Given the description of an element on the screen output the (x, y) to click on. 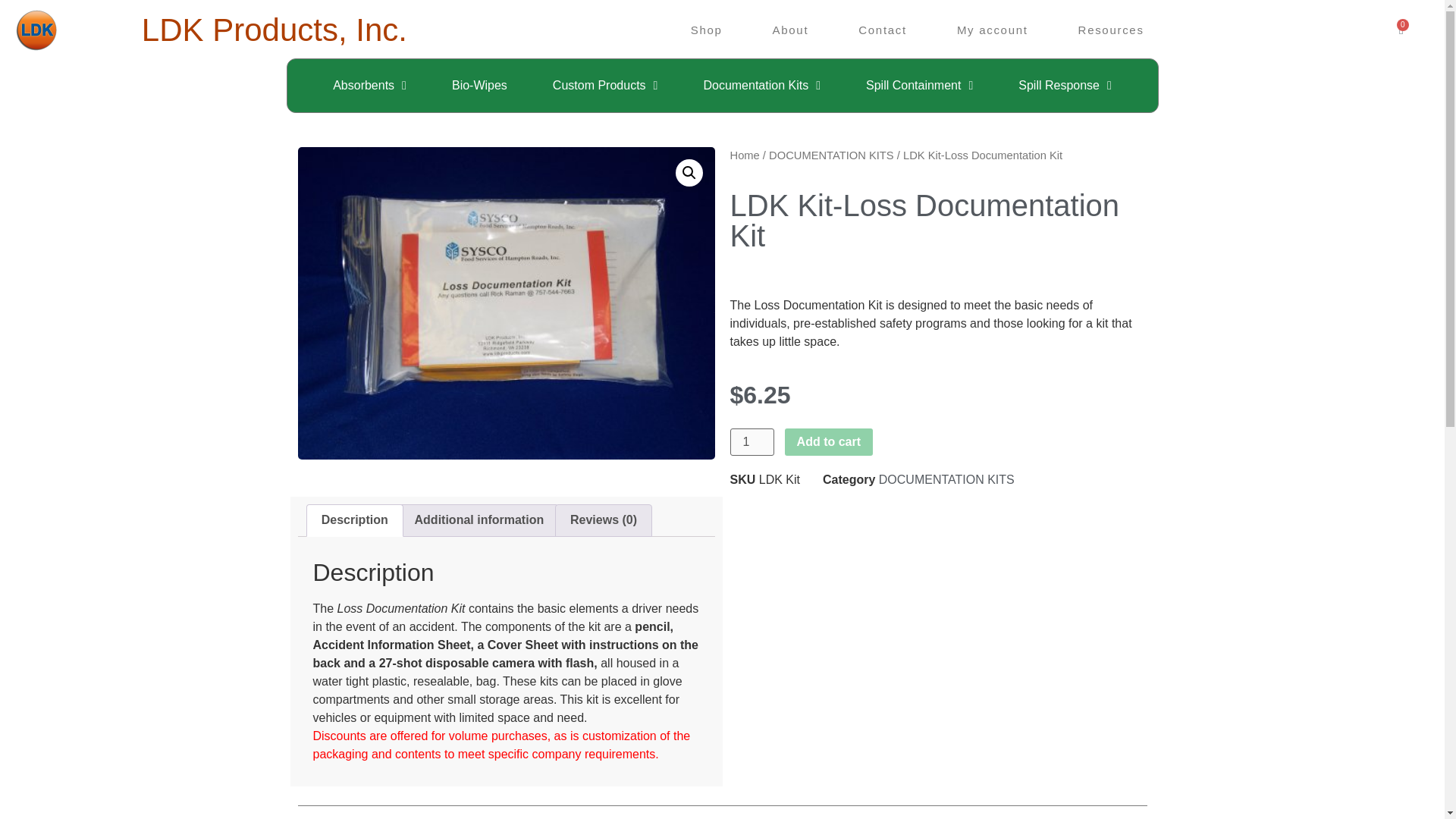
1 (751, 441)
Contact (882, 30)
My account (992, 30)
Shop (706, 30)
About (790, 30)
Absorbents (369, 85)
Resources (1111, 30)
images (505, 303)
